Given the description of an element on the screen output the (x, y) to click on. 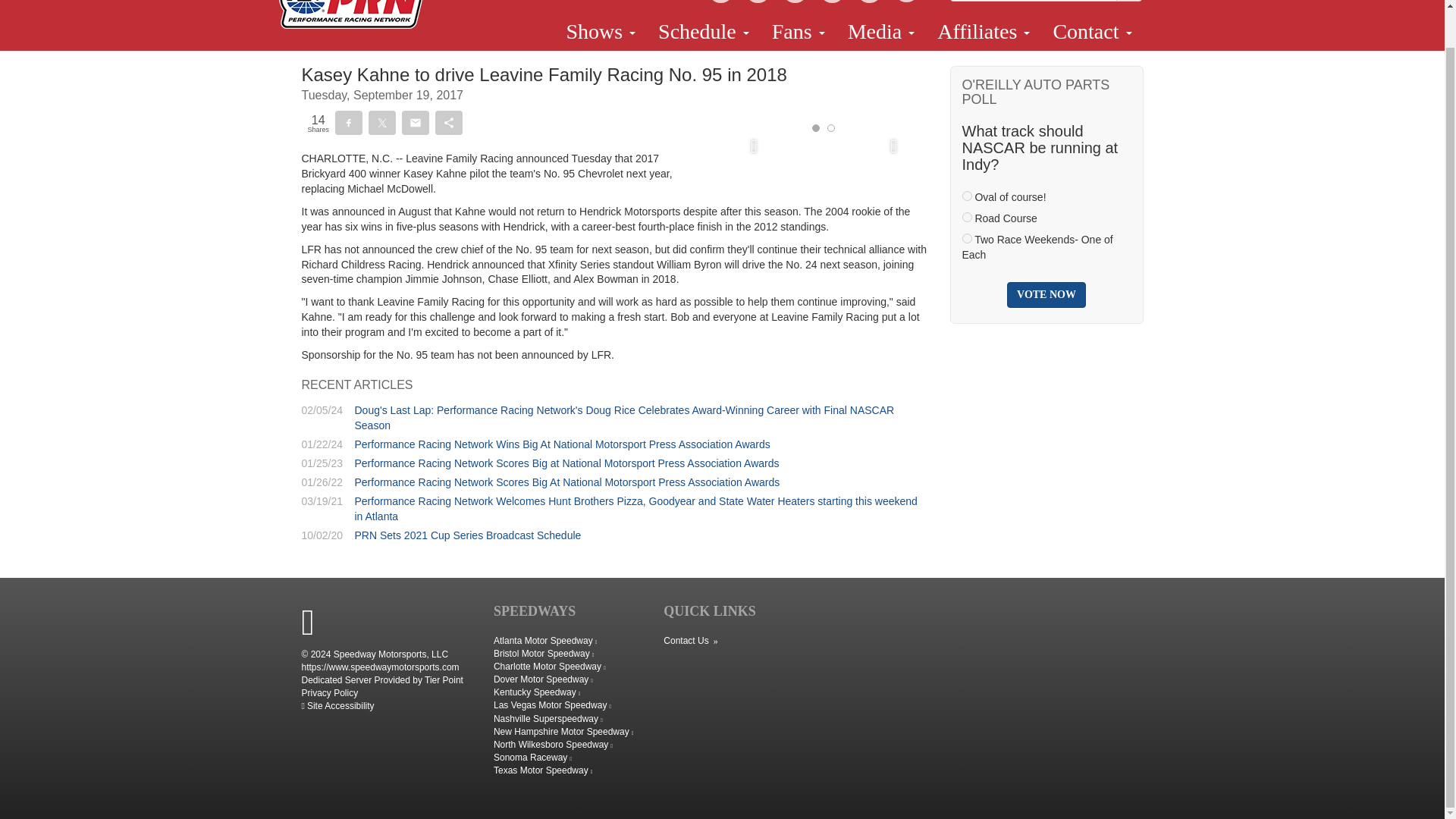
Shows (600, 31)
Media (880, 31)
14632,51773 (965, 238)
Schedule (703, 31)
Fans (797, 31)
14632,51771 (965, 195)
Vote Now (1046, 294)
14632,51772 (965, 216)
